Given the description of an element on the screen output the (x, y) to click on. 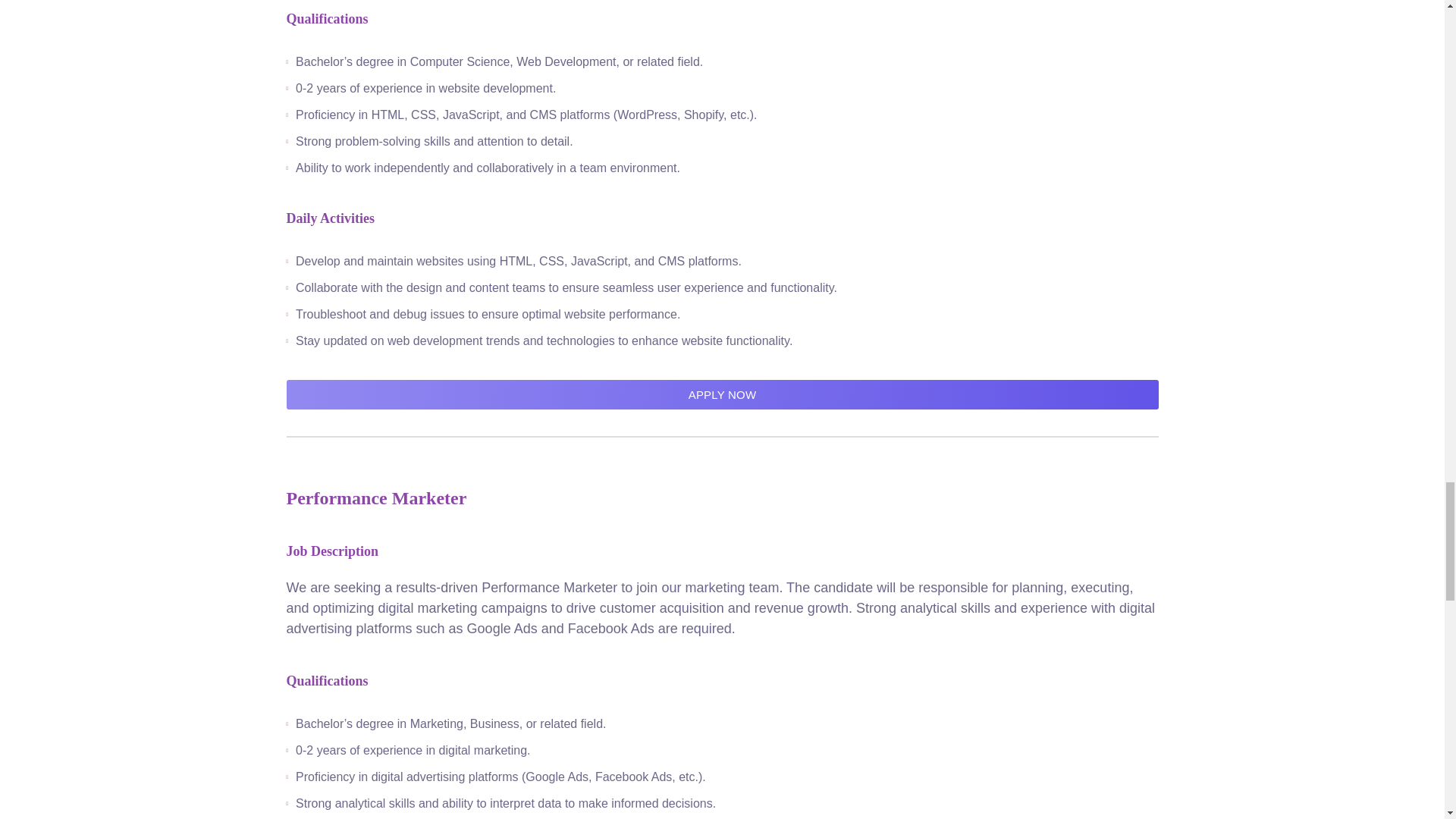
APPLY NOW (722, 394)
